Given the description of an element on the screen output the (x, y) to click on. 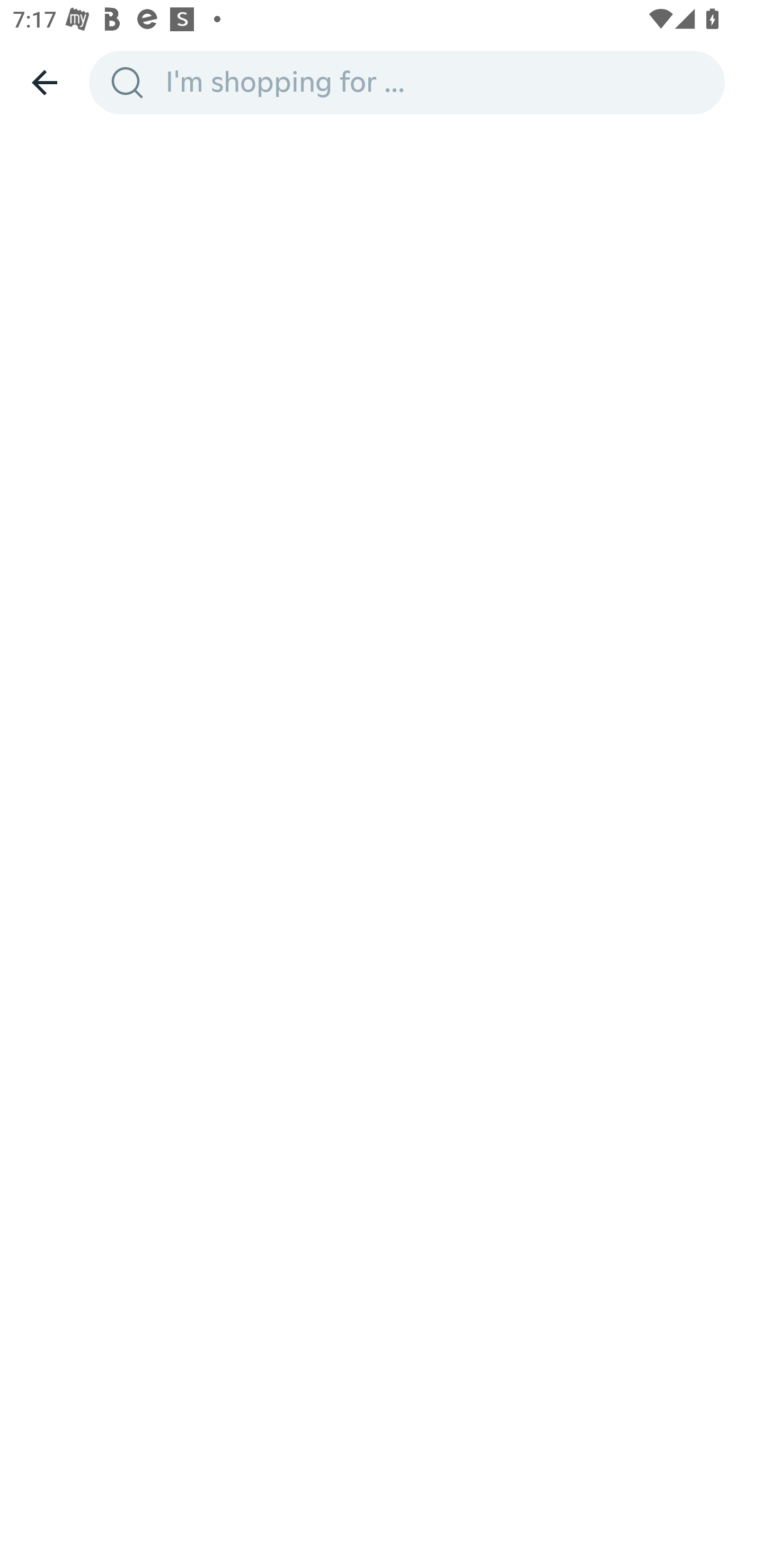
Navigate up (44, 82)
I'm shopping for ... (438, 81)
